Given the description of an element on the screen output the (x, y) to click on. 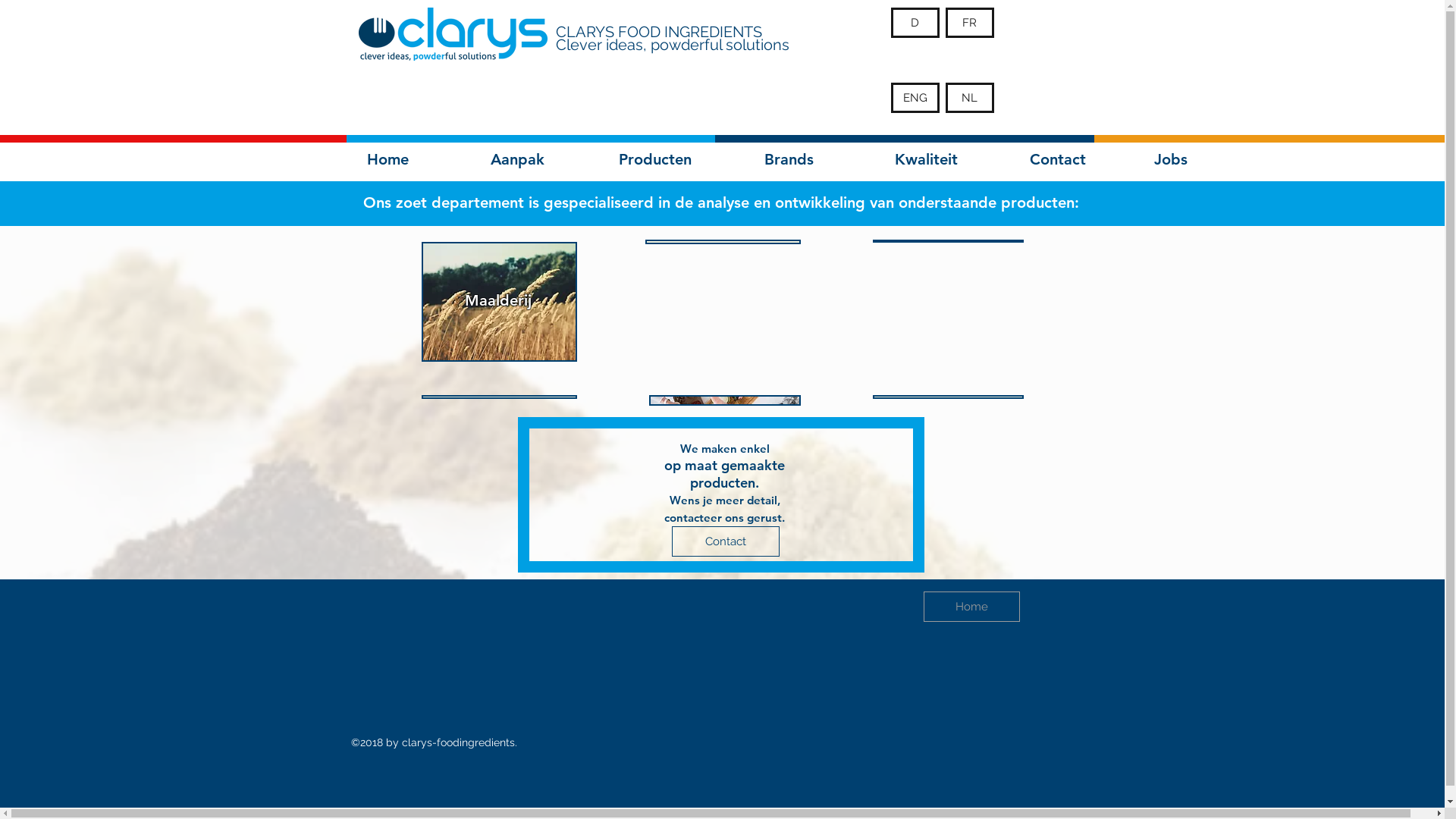
Kwaliteit Element type: text (925, 158)
ENG Element type: text (914, 97)
Aanpak Element type: text (517, 158)
Home Element type: text (971, 606)
Home Element type: text (386, 158)
Contact Element type: text (725, 541)
Contact Element type: text (1057, 158)
NL Element type: text (968, 97)
Jobs Element type: text (1170, 158)
D Element type: text (914, 22)
FR Element type: text (968, 22)
Producten Element type: text (655, 158)
Brands Element type: text (788, 158)
CLARYS FOOD INGREDIENTS Element type: text (658, 31)
